Given the description of an element on the screen output the (x, y) to click on. 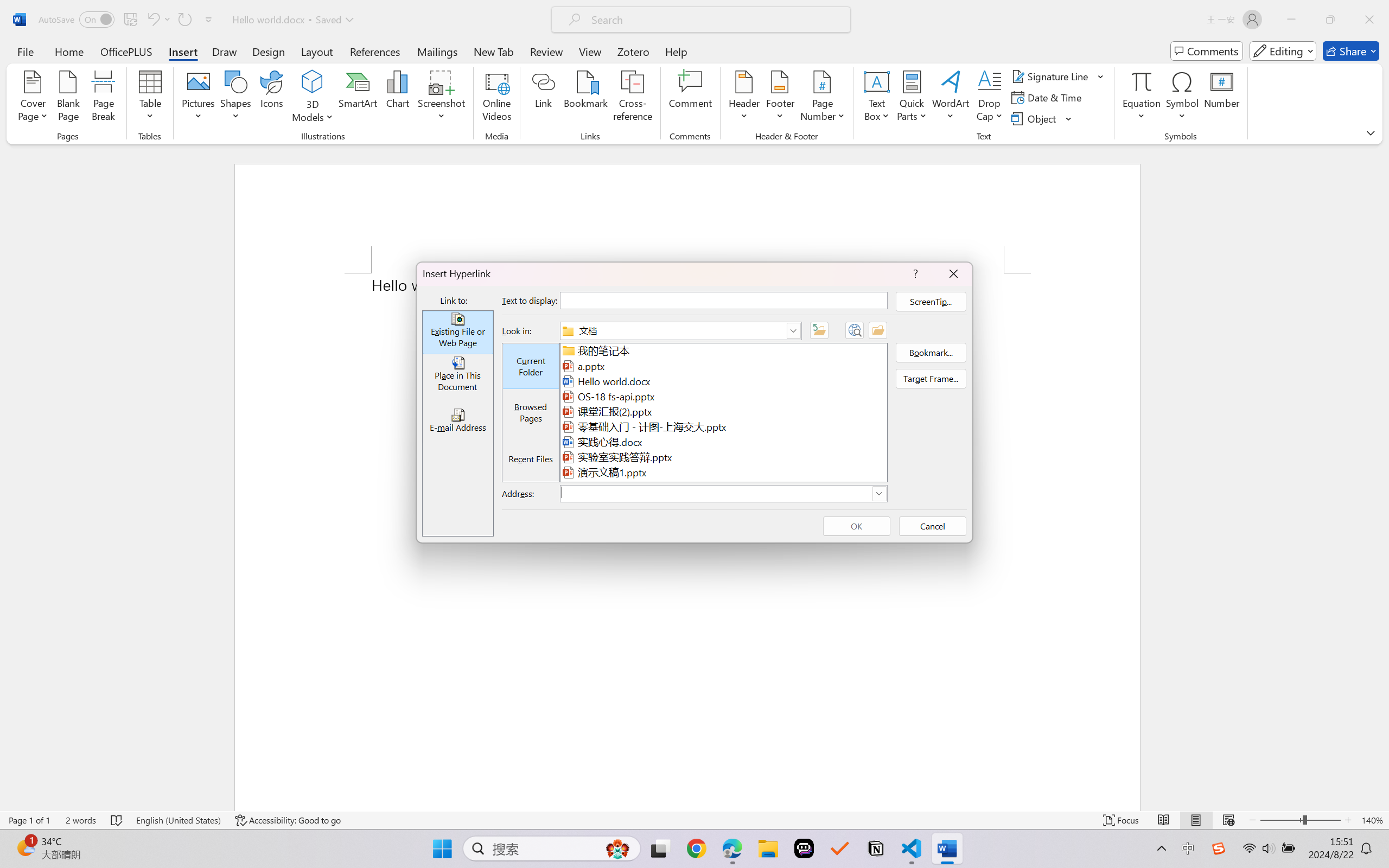
Can't Undo (152, 19)
Drop Cap (989, 97)
Zoom 140% (1372, 819)
Equation (1141, 81)
Review (546, 51)
Pictures (198, 97)
Header (743, 97)
Cover Page (33, 97)
Language English (United States) (178, 819)
Home (69, 51)
Number... (1221, 97)
Class: Image (1218, 847)
OK (856, 525)
Page Break (103, 97)
